Given the description of an element on the screen output the (x, y) to click on. 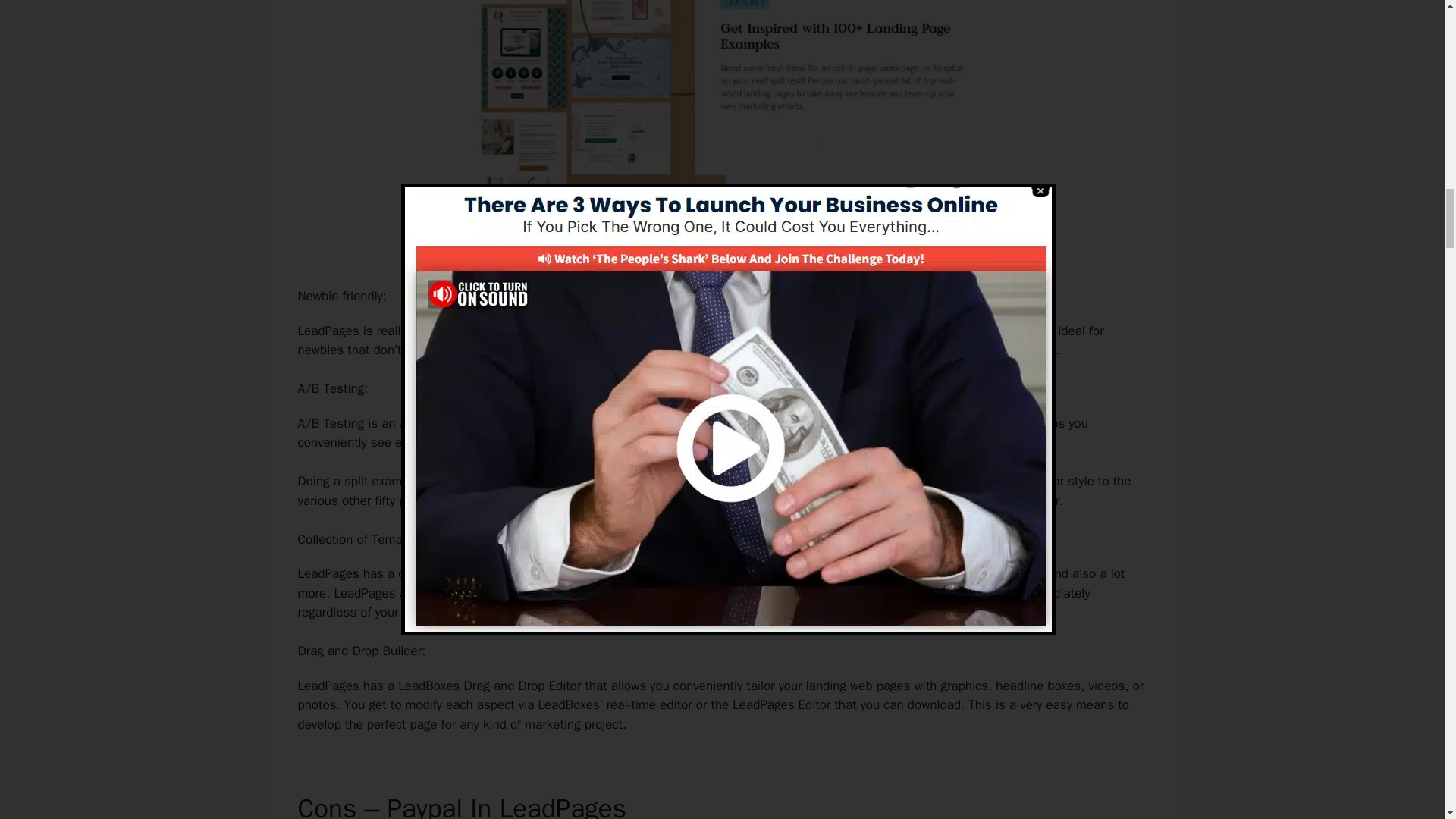
Browse All Free Templates Here (721, 244)
